Given the description of an element on the screen output the (x, y) to click on. 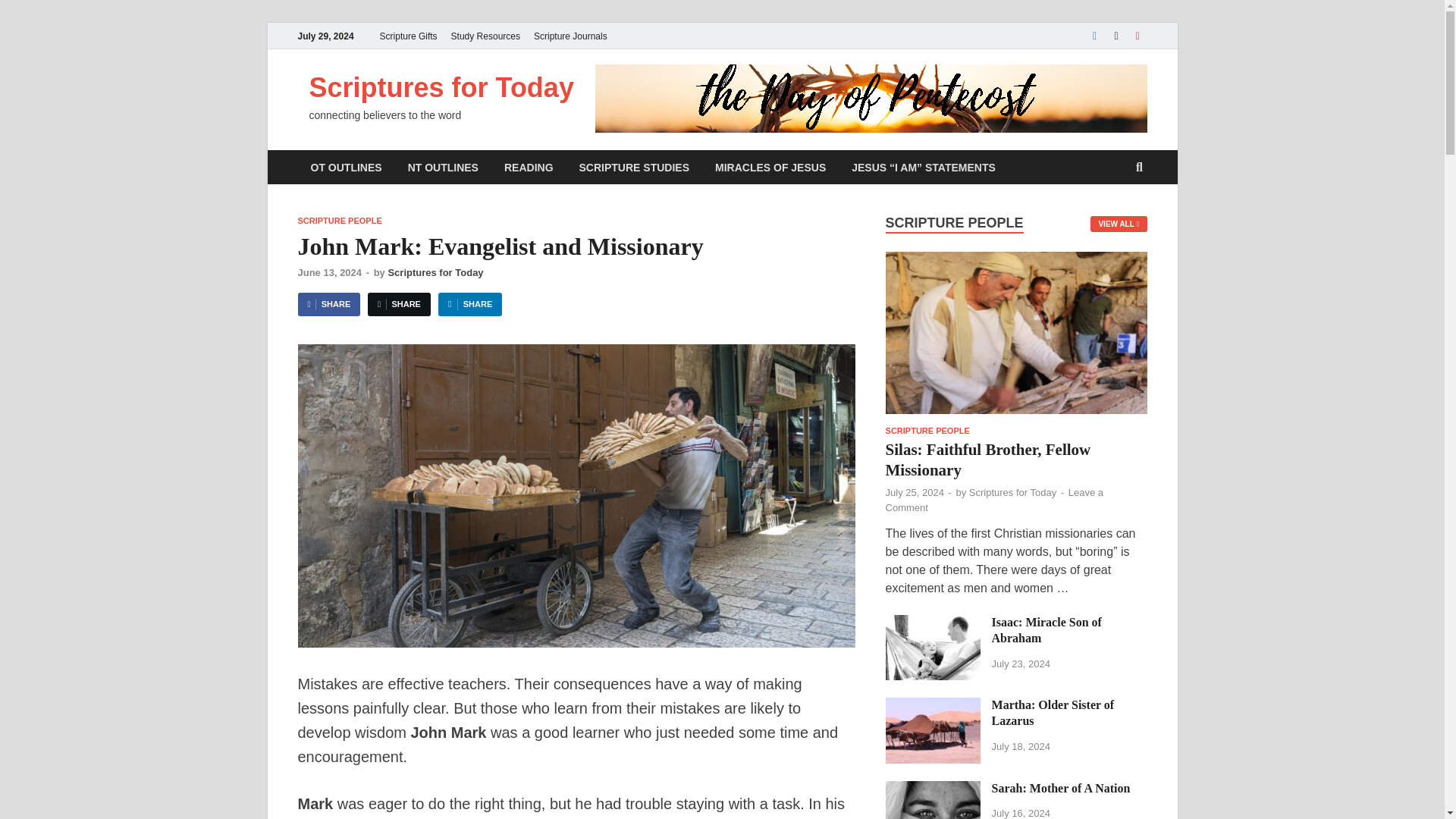
Scripture Journals (570, 35)
Scripture Gifts (408, 35)
Scriptures for Today (440, 87)
June 13, 2024 (329, 272)
OT OUTLINES (345, 166)
NT Outlines (443, 166)
SCRIPTURE PEOPLE (339, 220)
Reading (529, 166)
SHARE (470, 304)
Scriptures for Today (440, 87)
Scripture Studies (633, 166)
MIRACLES OF JESUS (769, 166)
Scriptures for Today (435, 272)
June 13, 2024June 8, 2024 (329, 272)
Scripture People (339, 220)
